Given the description of an element on the screen output the (x, y) to click on. 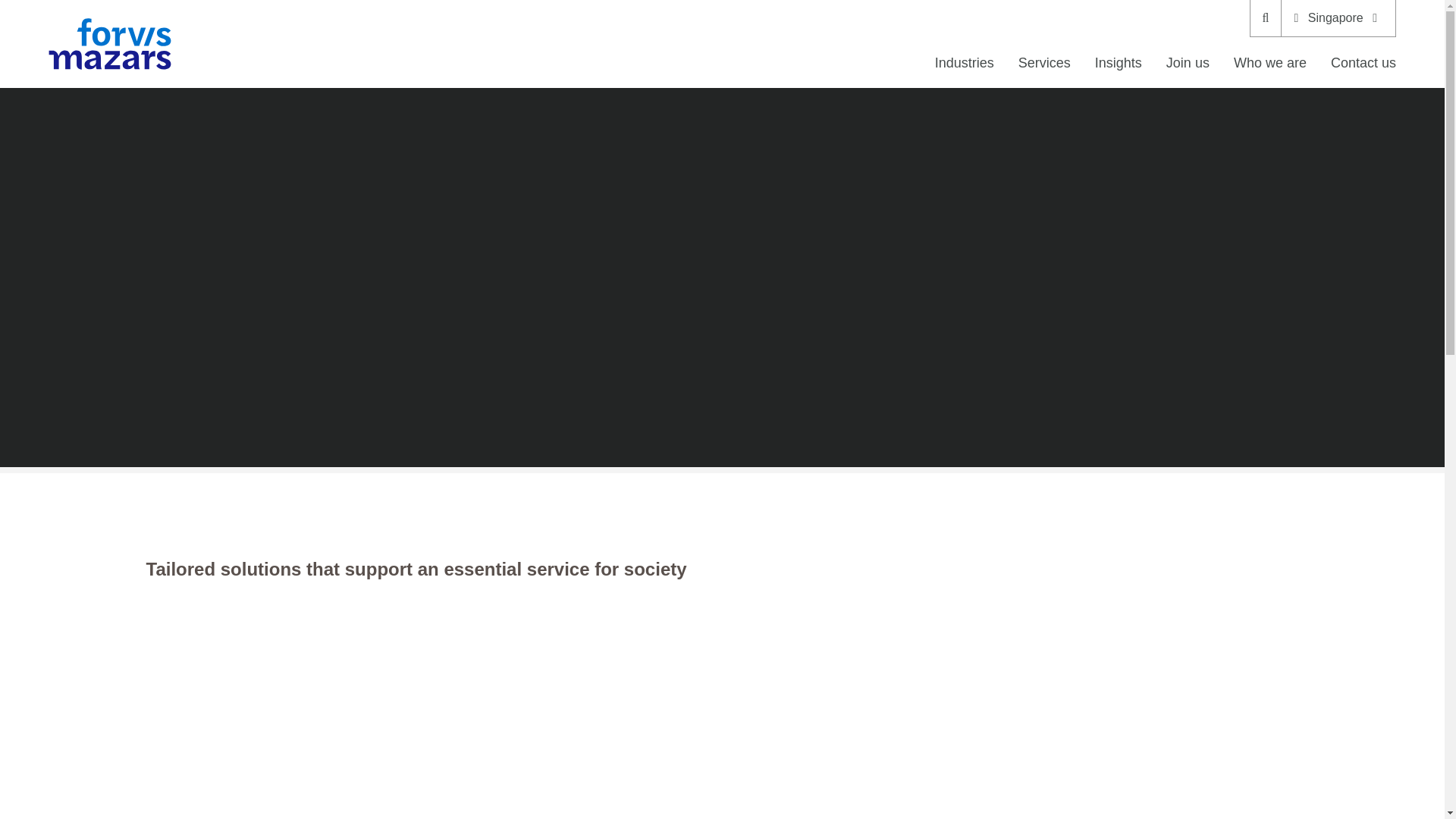
Singapore (1337, 18)
